Given the description of an element on the screen output the (x, y) to click on. 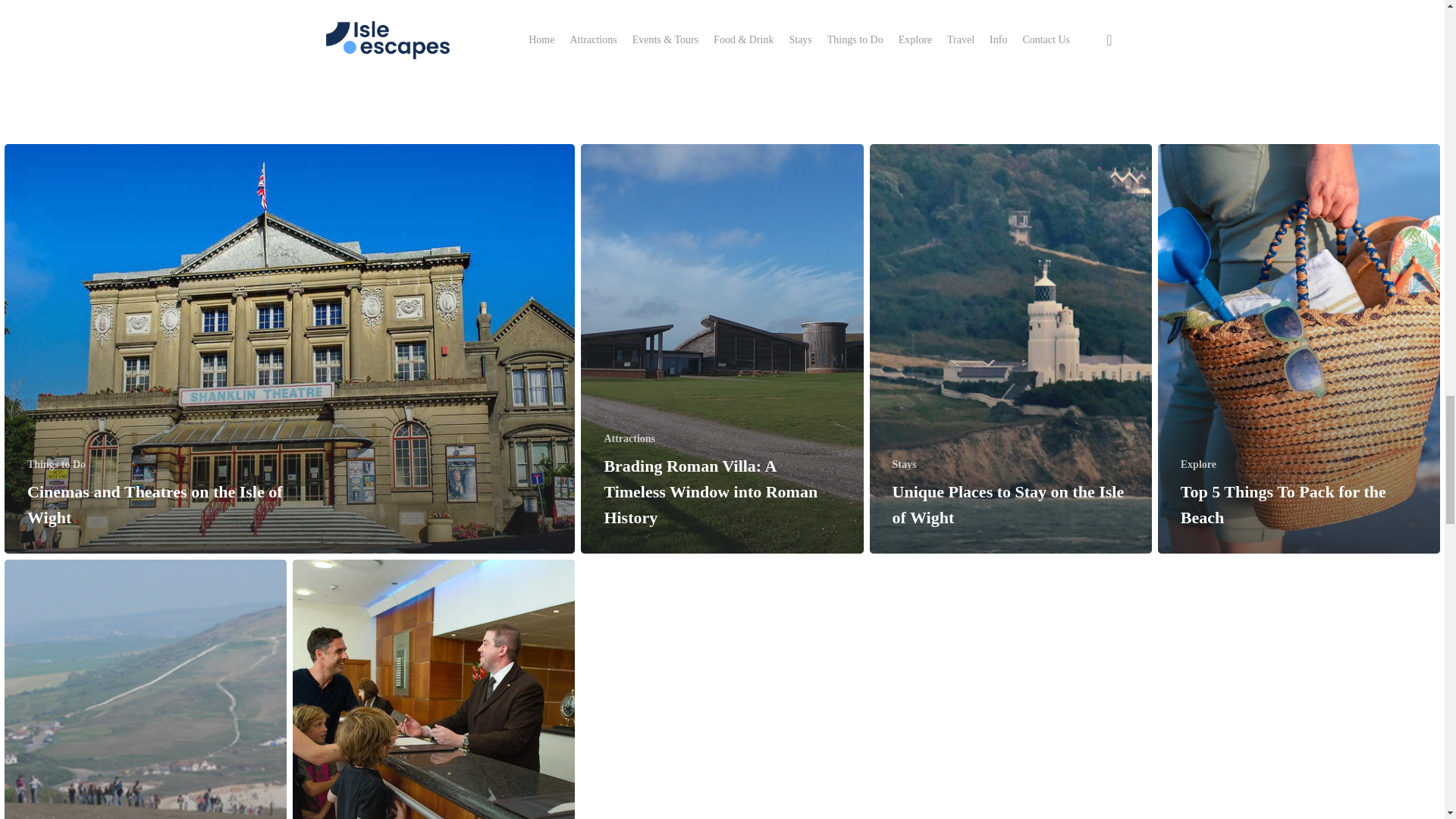
Things to Do (56, 464)
